Given the description of an element on the screen output the (x, y) to click on. 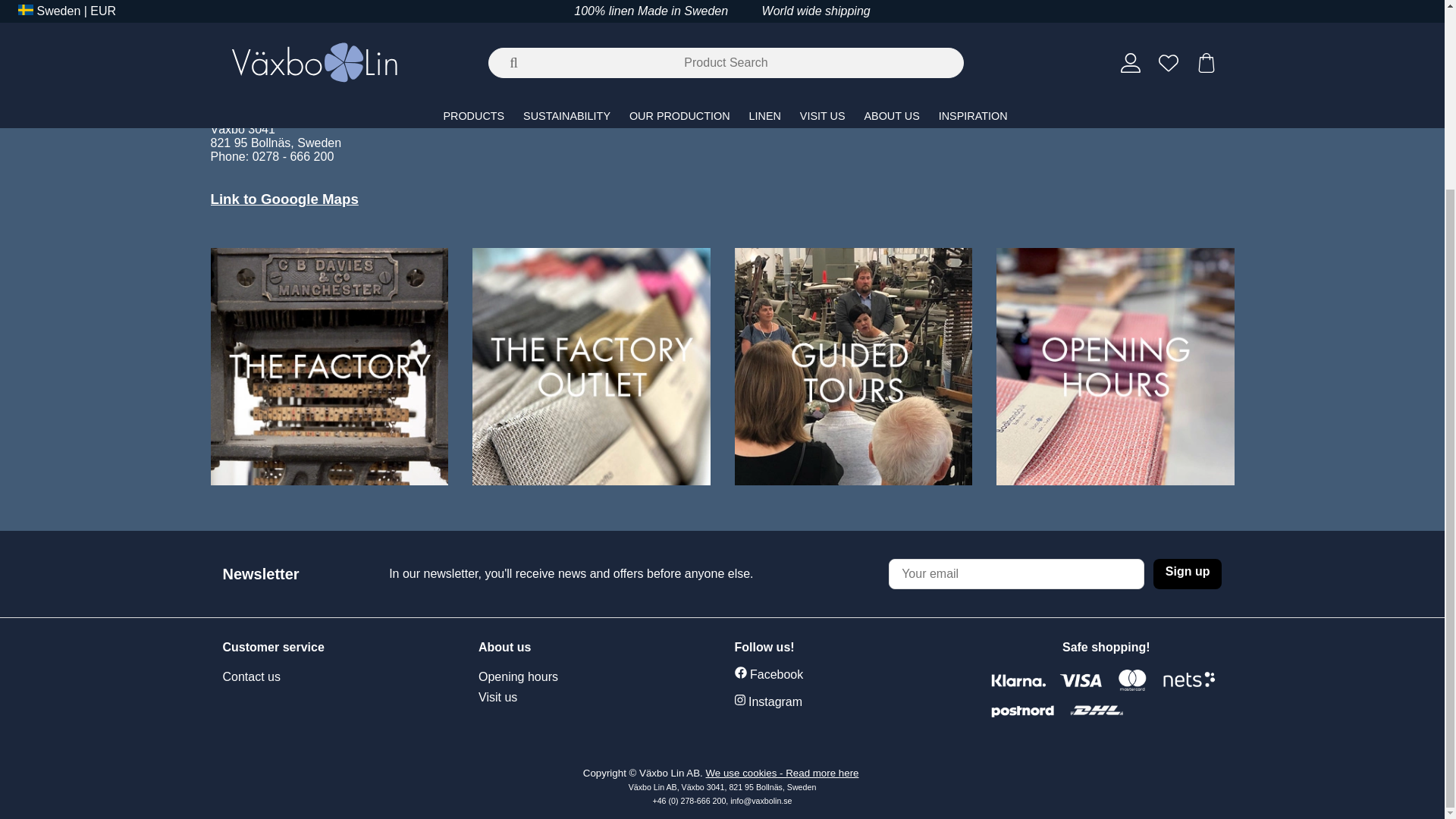
Contact us (251, 676)
Visit us (539, 697)
Opening hours (539, 676)
